Given the description of an element on the screen output the (x, y) to click on. 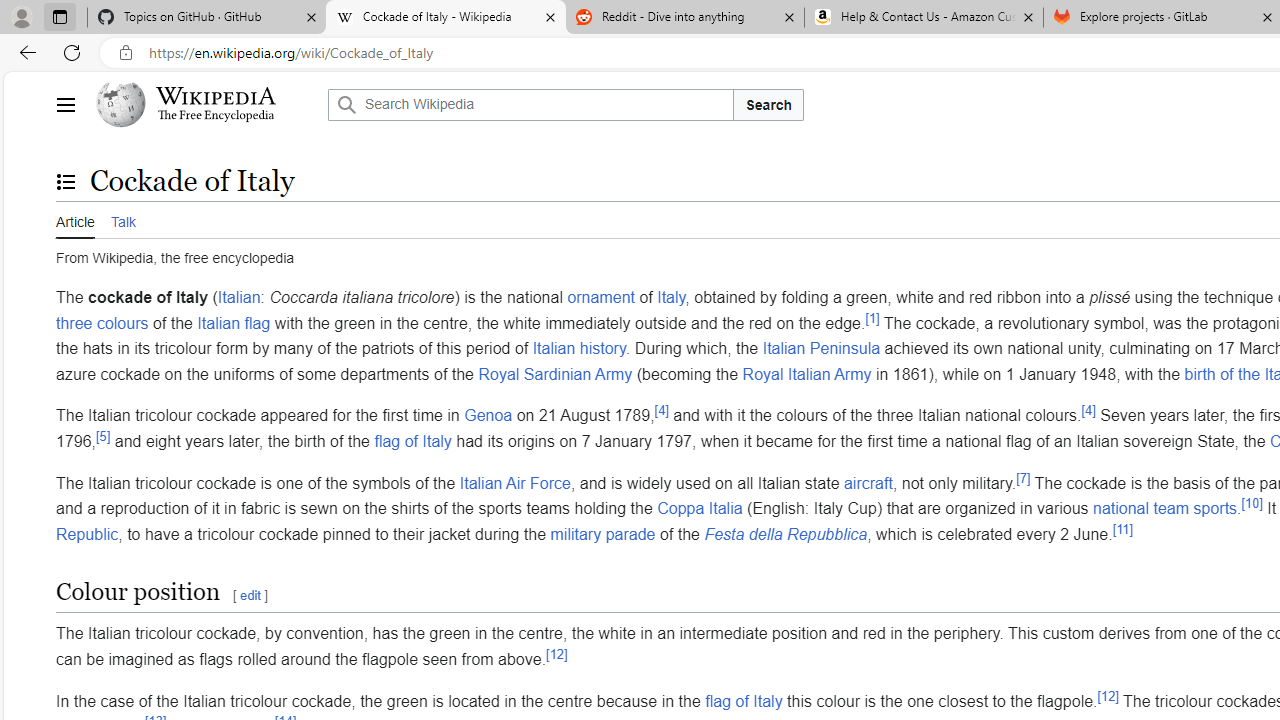
national team sports (1165, 508)
Reddit - Dive into anything (684, 17)
Italian (239, 297)
Main menu (65, 104)
[7] (1023, 478)
ornament (600, 297)
Coppa Italia (699, 508)
Toggle the table of contents (65, 181)
Article (75, 219)
Wikipedia The Free Encyclopedia (206, 104)
flag of Italy (744, 700)
Tab actions menu (59, 16)
Search (768, 104)
[1] (872, 318)
Royal Sardinian Army (555, 374)
